Given the description of an element on the screen output the (x, y) to click on. 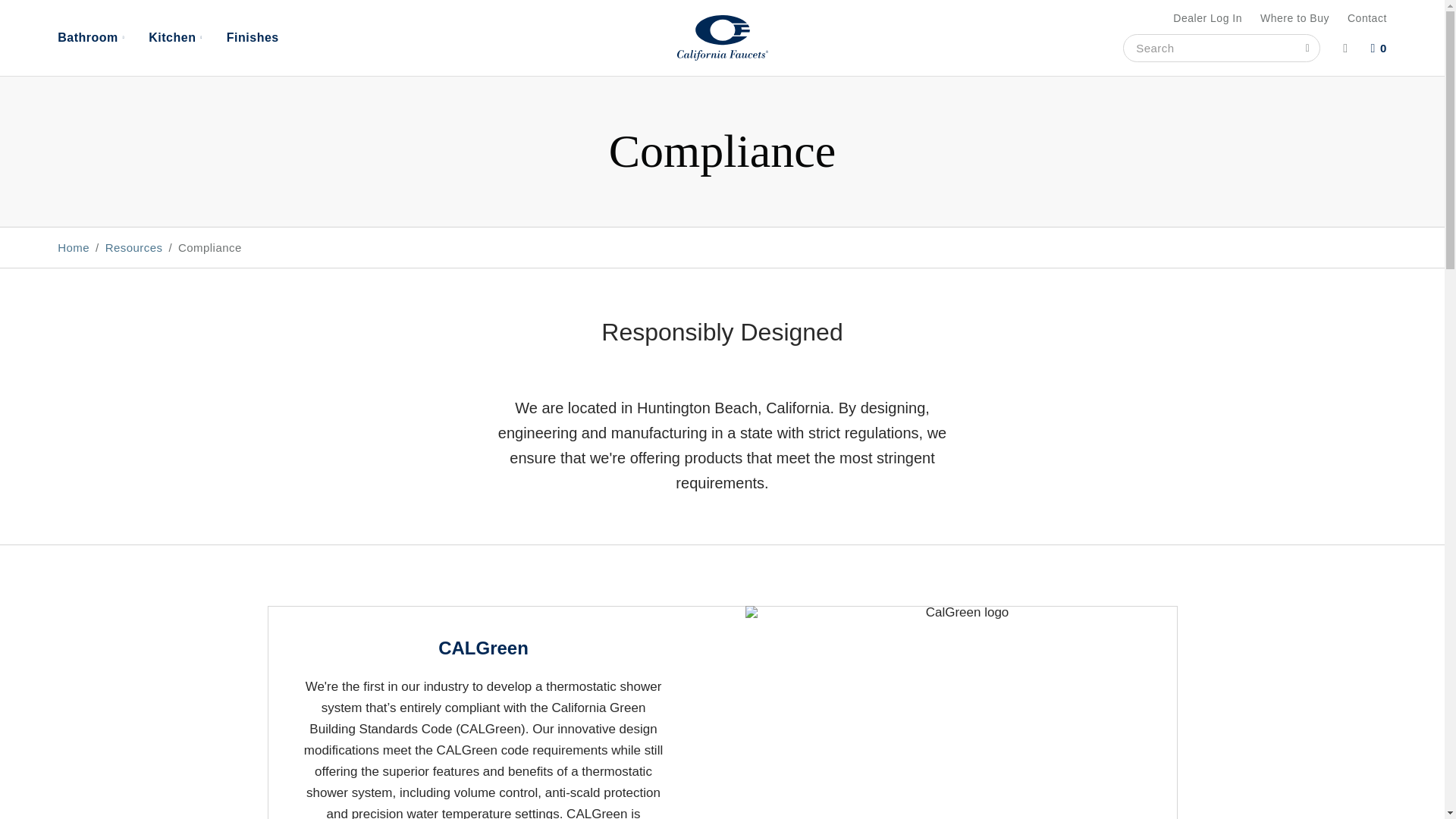
Kitchen (175, 38)
Bathroom (90, 38)
